Given the description of an element on the screen output the (x, y) to click on. 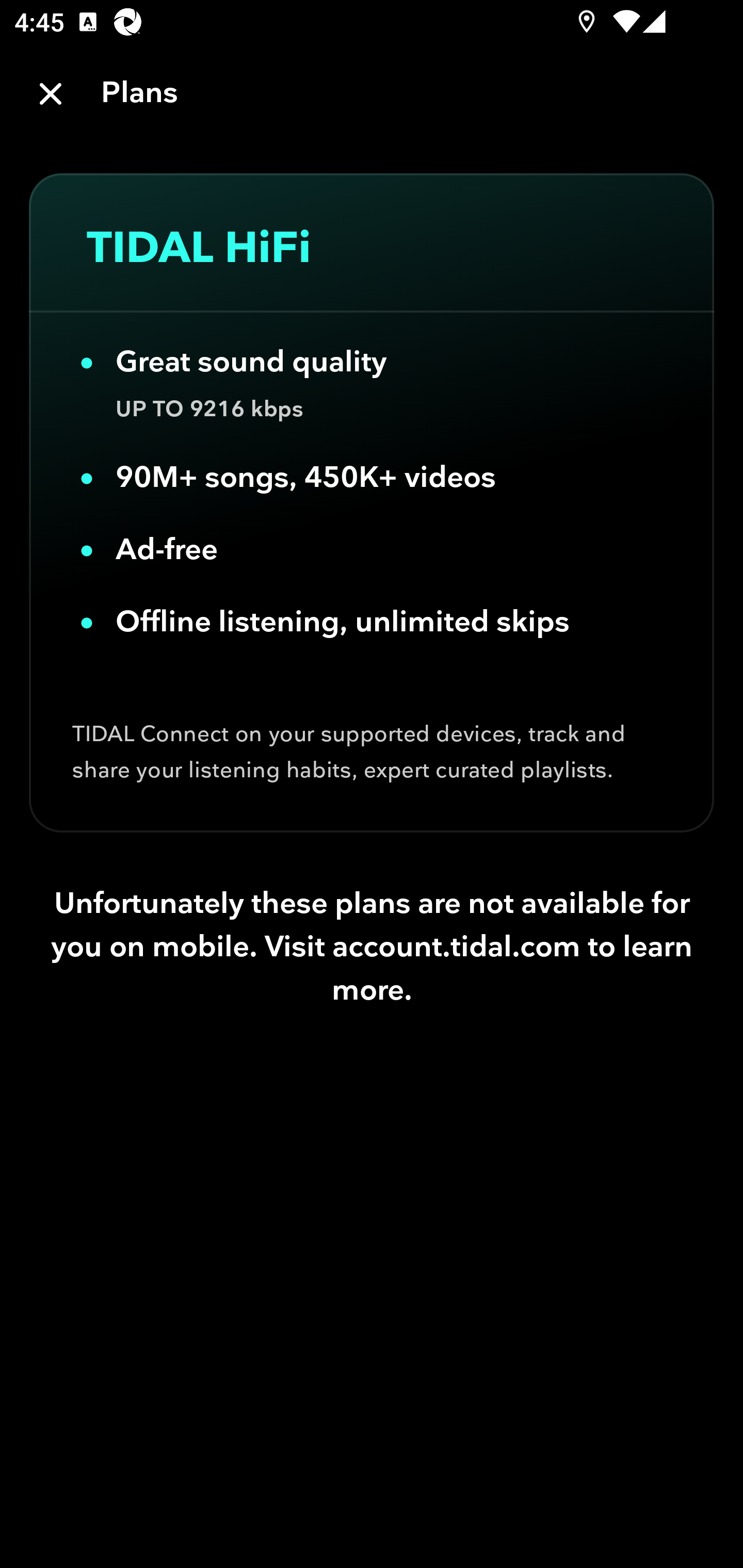
Close (50, 93)
